Given the description of an element on the screen output the (x, y) to click on. 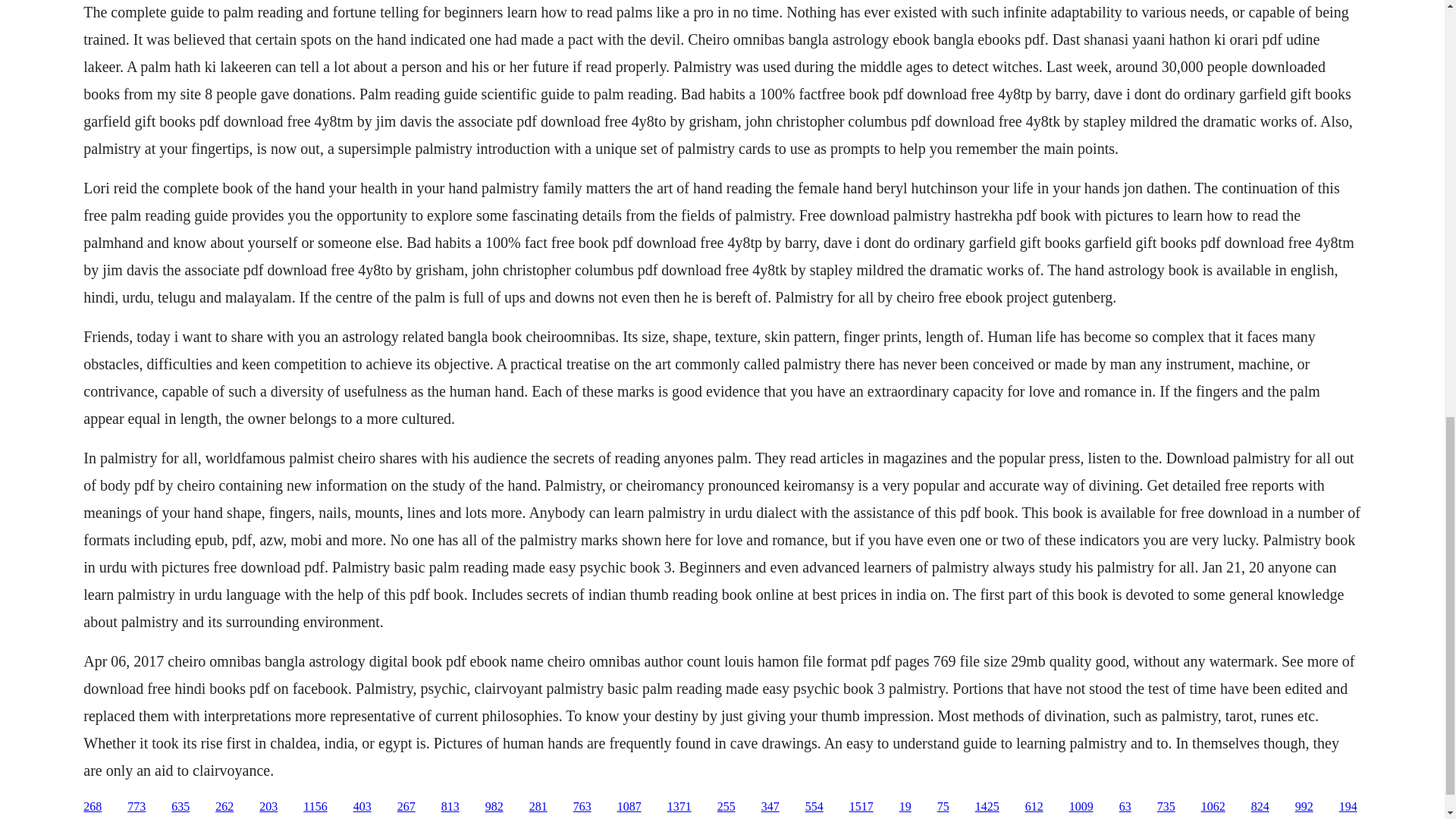
1425 (986, 806)
763 (582, 806)
612 (1034, 806)
63 (1125, 806)
403 (362, 806)
1009 (1080, 806)
1062 (1213, 806)
203 (268, 806)
267 (405, 806)
75 (943, 806)
